Given the description of an element on the screen output the (x, y) to click on. 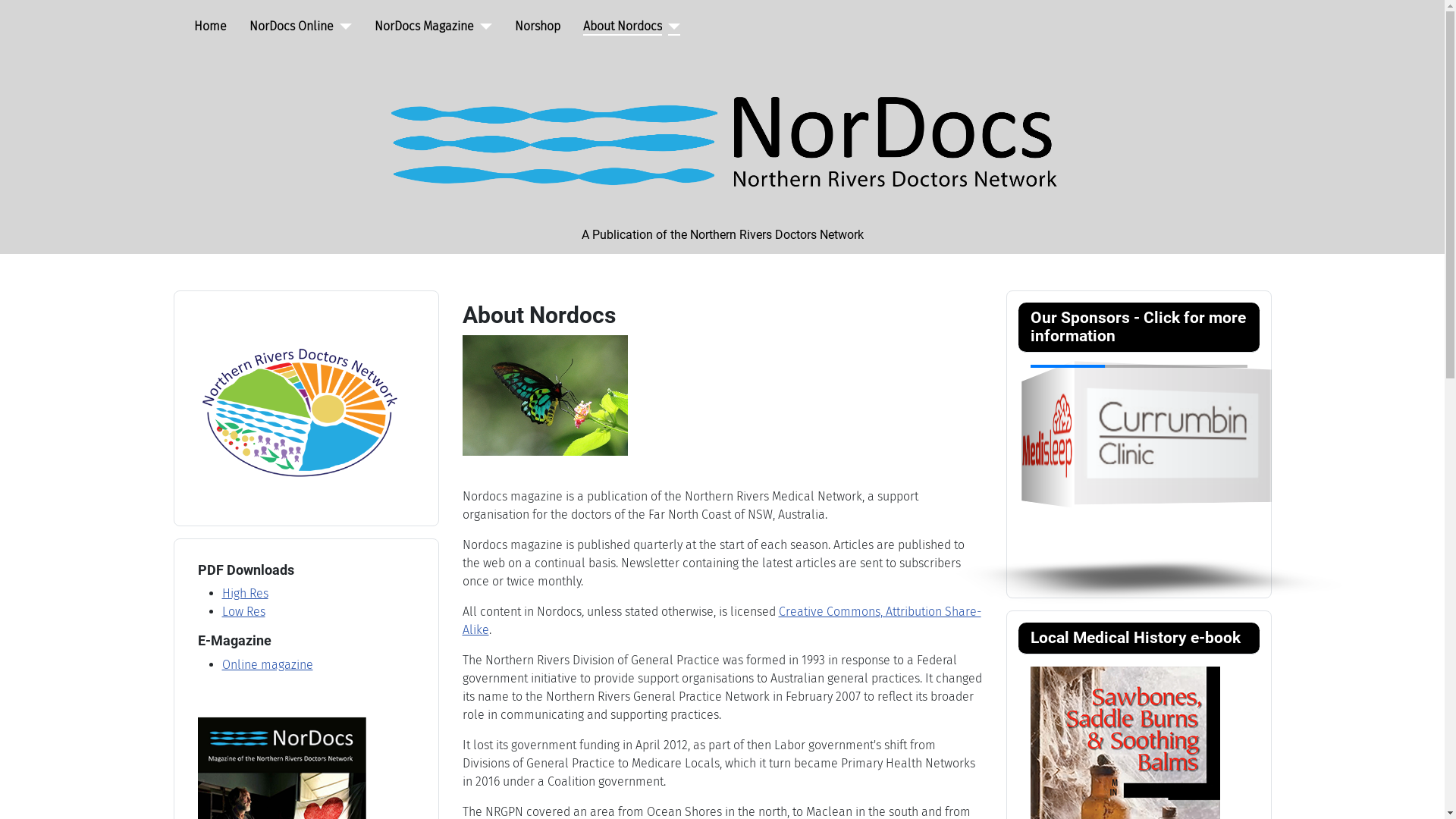
Norshop Element type: text (536, 26)
Low Res Element type: text (242, 611)
Home Element type: text (210, 26)
High Res Element type: text (244, 593)
Creative Commons, Attribution Share-Alike Element type: text (721, 620)
Online magazine Element type: text (266, 664)
NorDocs Magazine Element type: text (423, 26)
NorDocs Online Element type: text (290, 26)
About Nordocs Element type: text (621, 26)
